Given the description of an element on the screen output the (x, y) to click on. 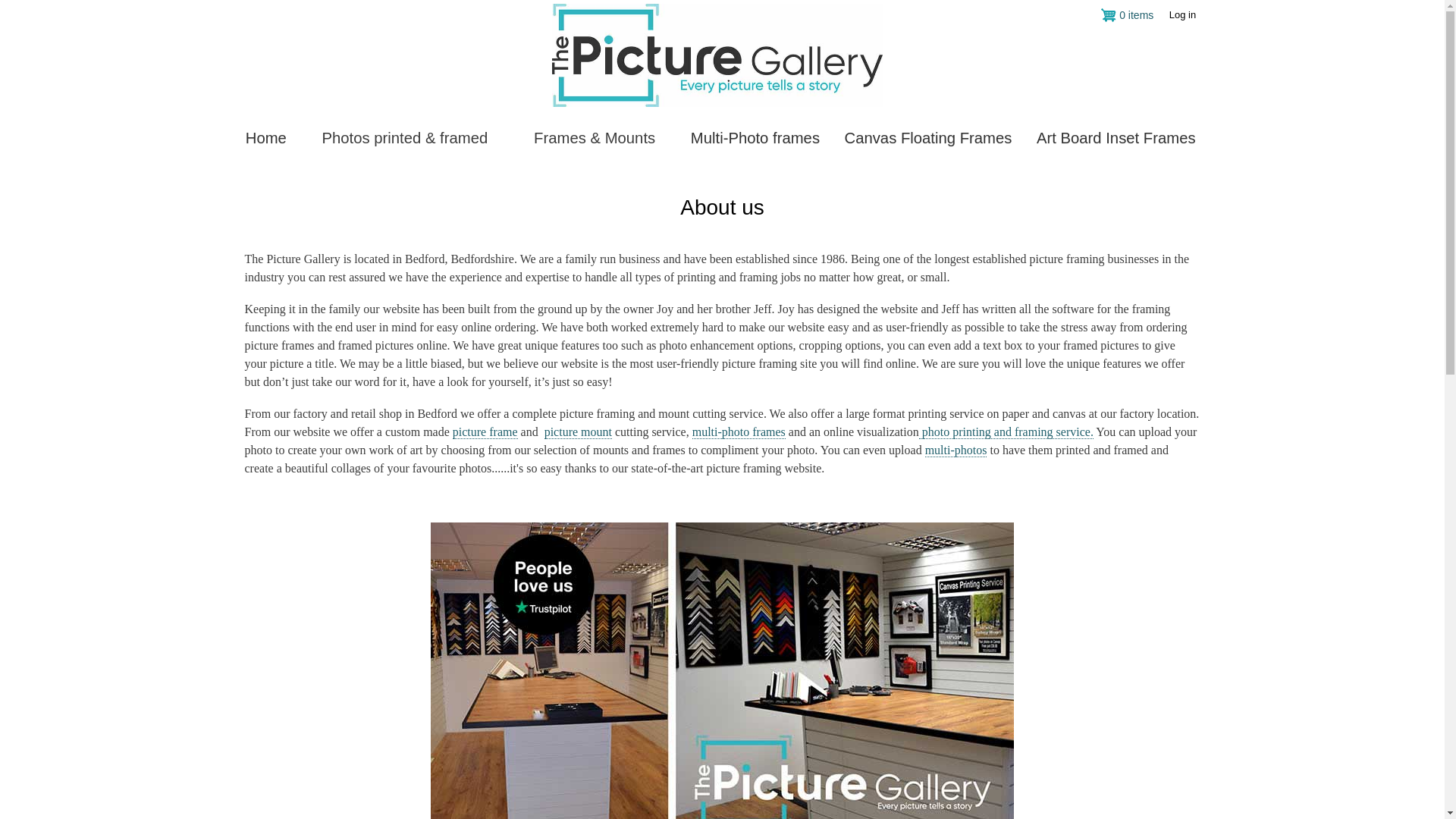
multi-photo frames (739, 431)
Log in (1182, 15)
multi-photos (955, 450)
0 items (1126, 15)
photo printing and framing service. (1005, 431)
Multi Photo Frames (755, 138)
picture mount (577, 431)
Frames for art boards and canvas boards (1116, 138)
picture frame (485, 431)
Multi-Photo frames (755, 138)
Canvas Floating Frames (927, 138)
Skip to main content (722, 1)
Home (265, 138)
Art Board Inset Frames (1116, 138)
